Given the description of an element on the screen output the (x, y) to click on. 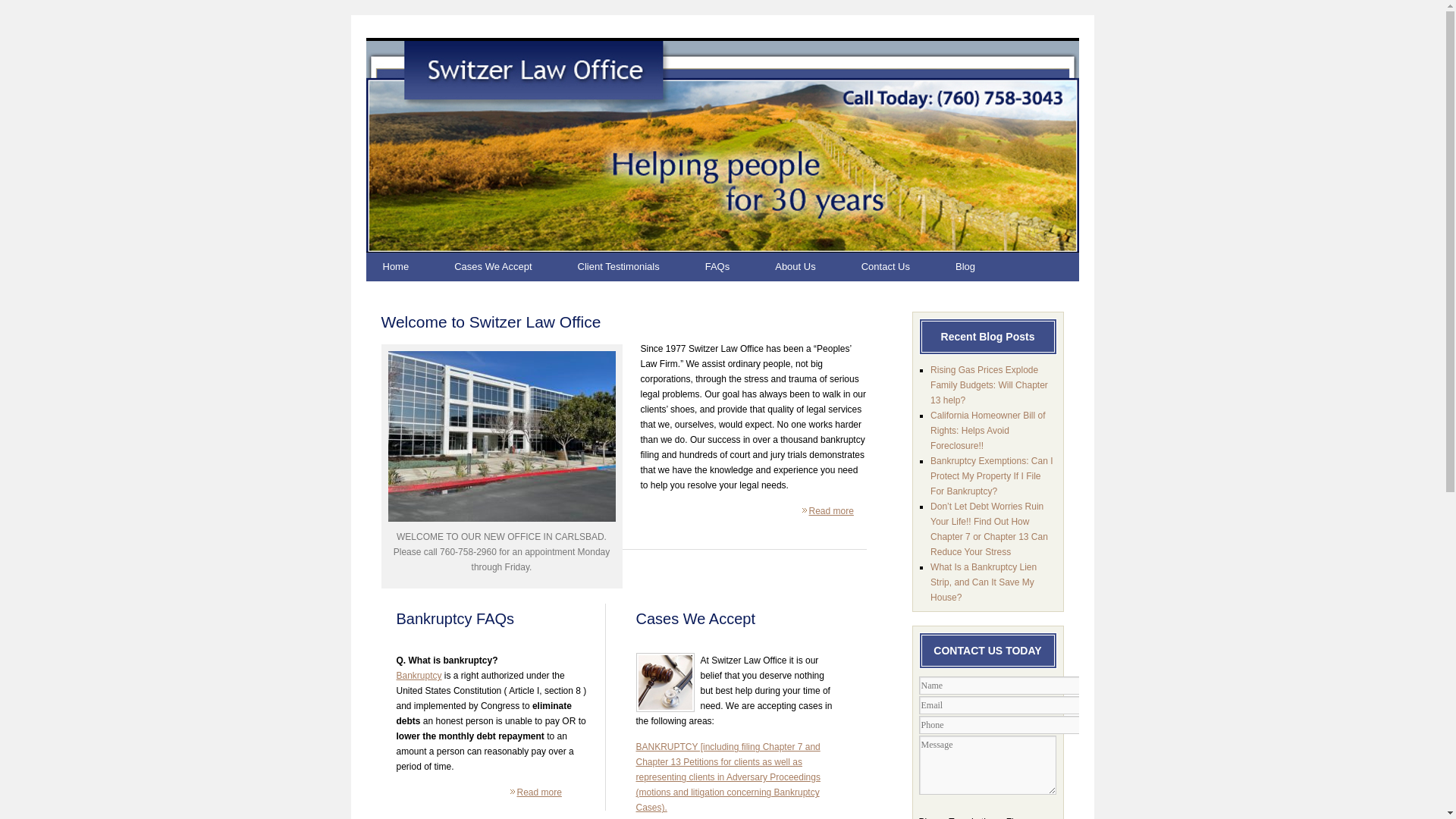
Home (410, 266)
FAQs (732, 266)
Bankruptcy (418, 675)
Cases We Accept (507, 266)
Read more (830, 511)
Blog (980, 266)
Client Testimonials (633, 266)
About Us (810, 266)
Read more (539, 792)
What Is a Bankruptcy Lien Strip, and Can It Save My House? (983, 581)
What is Bankruptcy and How Can It Help You? (418, 675)
Contact Us (900, 266)
